Given the description of an element on the screen output the (x, y) to click on. 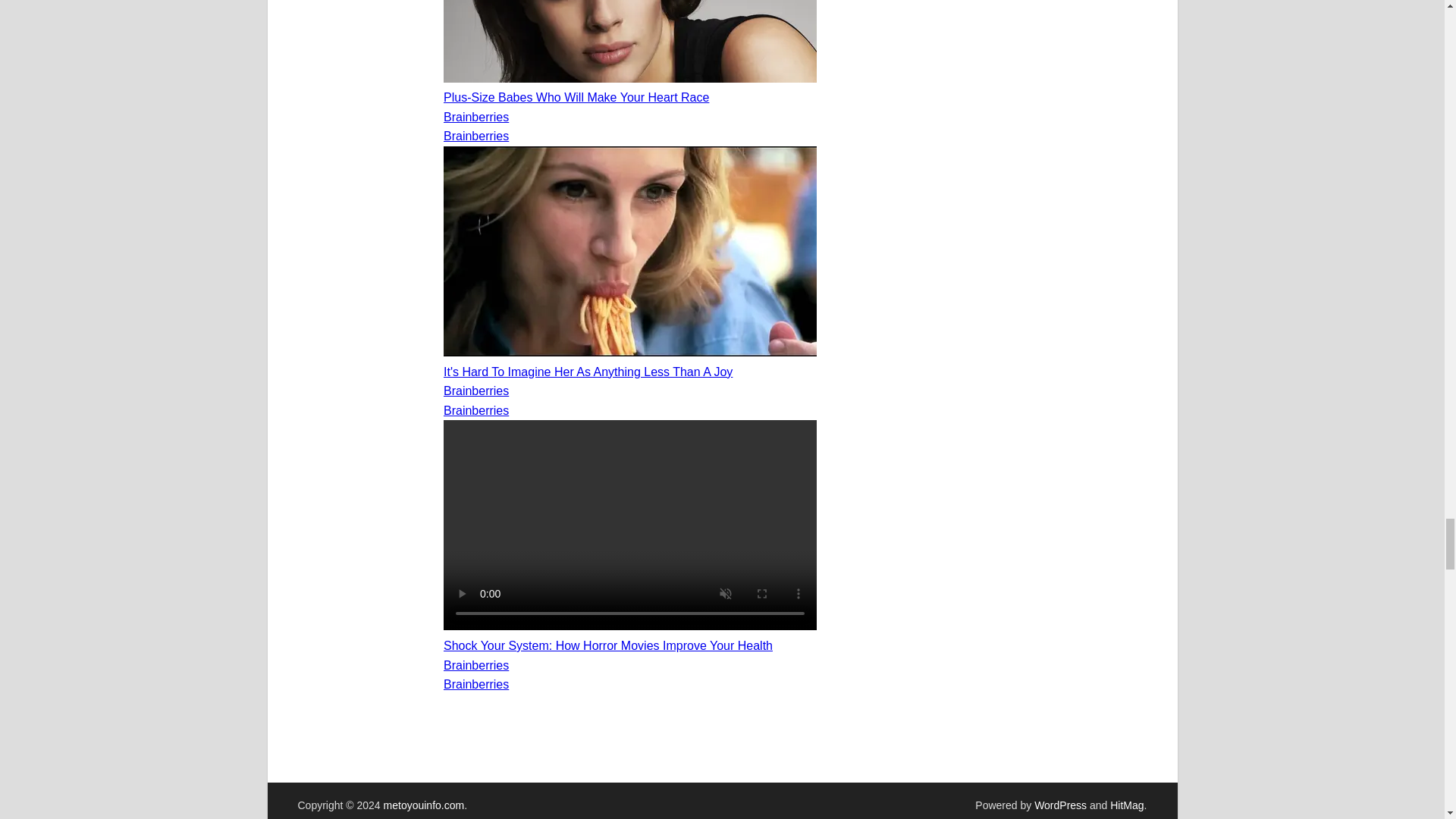
HitMag (1125, 805)
WordPress (1059, 805)
HitMag WordPress Theme (1125, 805)
WordPress (1059, 805)
metoyouinfo.com (424, 805)
metoyouinfo.com (424, 805)
